Given the description of an element on the screen output the (x, y) to click on. 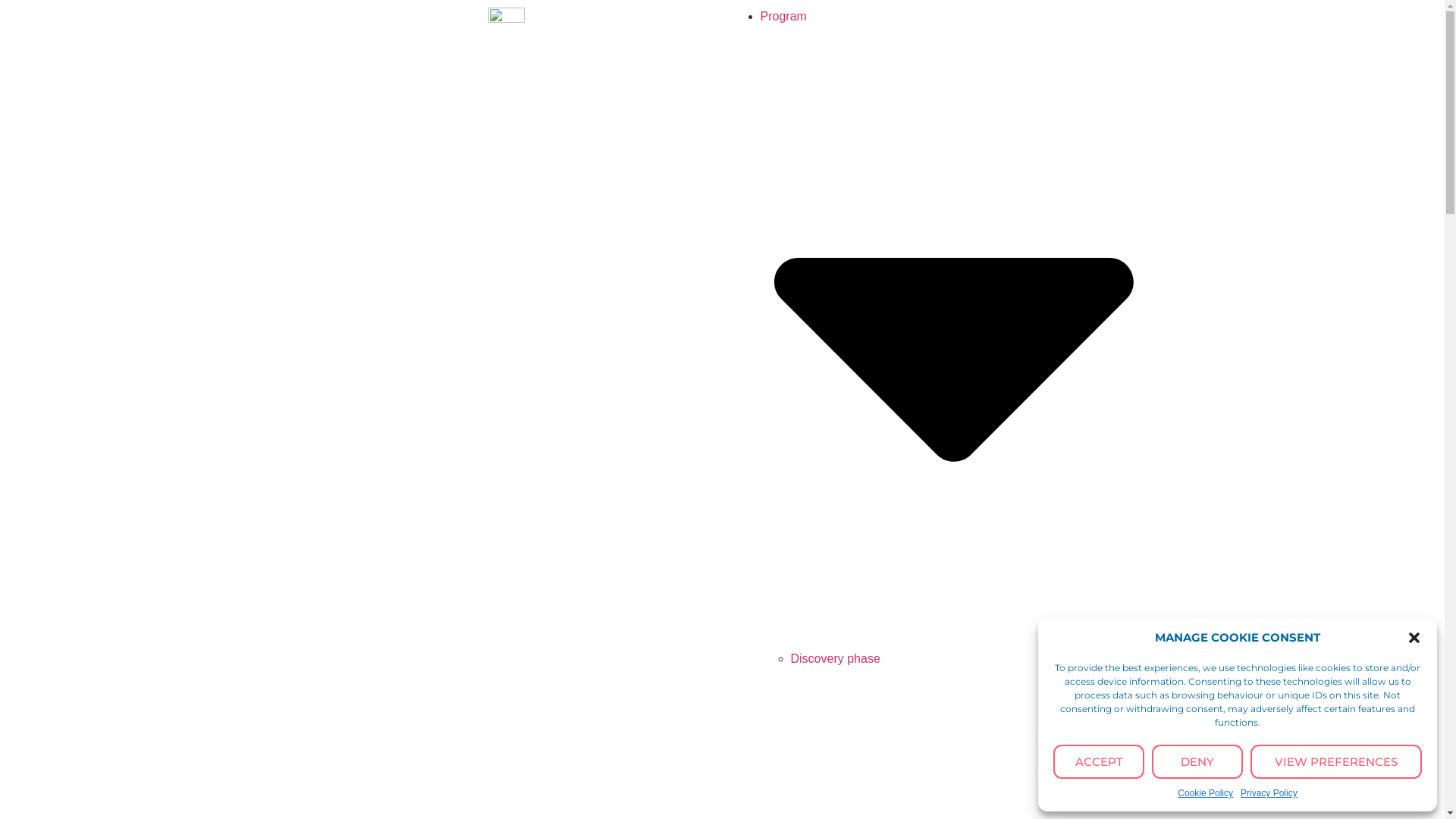
DENY Element type: text (1196, 761)
ACCEPT Element type: text (1098, 761)
Program Element type: text (952, 327)
VIEW PREFERENCES Element type: text (1335, 761)
Cookie Policy Element type: text (1205, 793)
Privacy Policy Element type: text (1268, 793)
